Given the description of an element on the screen output the (x, y) to click on. 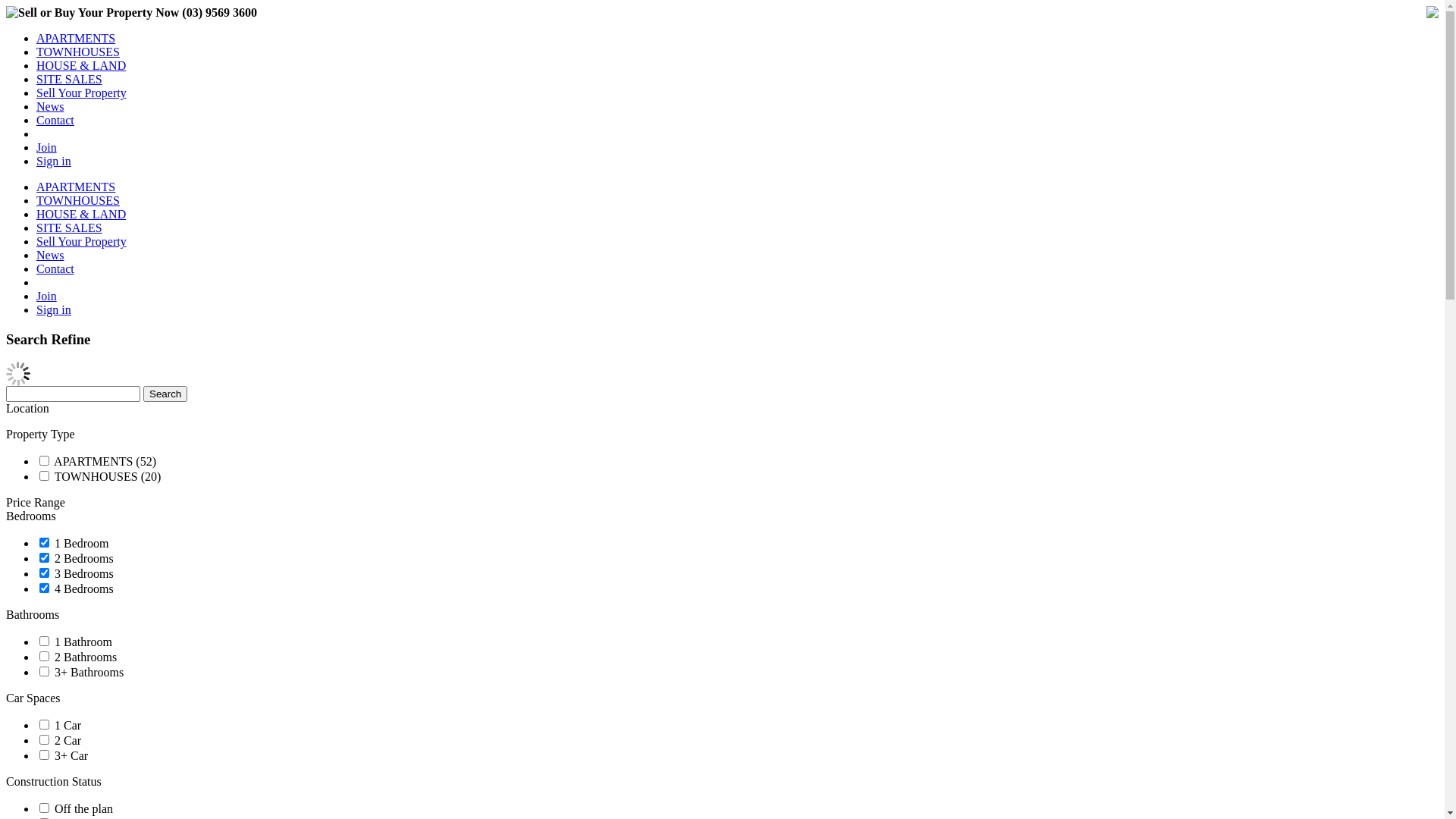
TOWNHOUSES Element type: text (77, 51)
HOUSE & LAND Element type: text (80, 213)
News Element type: text (49, 254)
Sell Your Property Element type: text (81, 92)
Join Element type: text (46, 295)
APARTMENTS Element type: text (75, 186)
Sign in Element type: text (53, 309)
Join Element type: text (46, 147)
Contact Element type: text (55, 119)
APARTMENTS Element type: text (75, 37)
HOUSE & LAND Element type: text (80, 65)
News Element type: text (49, 106)
Sell Your Property Element type: text (81, 241)
TOWNHOUSES Element type: text (77, 200)
Sign in Element type: text (53, 160)
SITE SALES Element type: text (69, 78)
Contact Element type: text (55, 268)
Search Element type: text (165, 393)
SITE SALES Element type: text (69, 227)
